Given the description of an element on the screen output the (x, y) to click on. 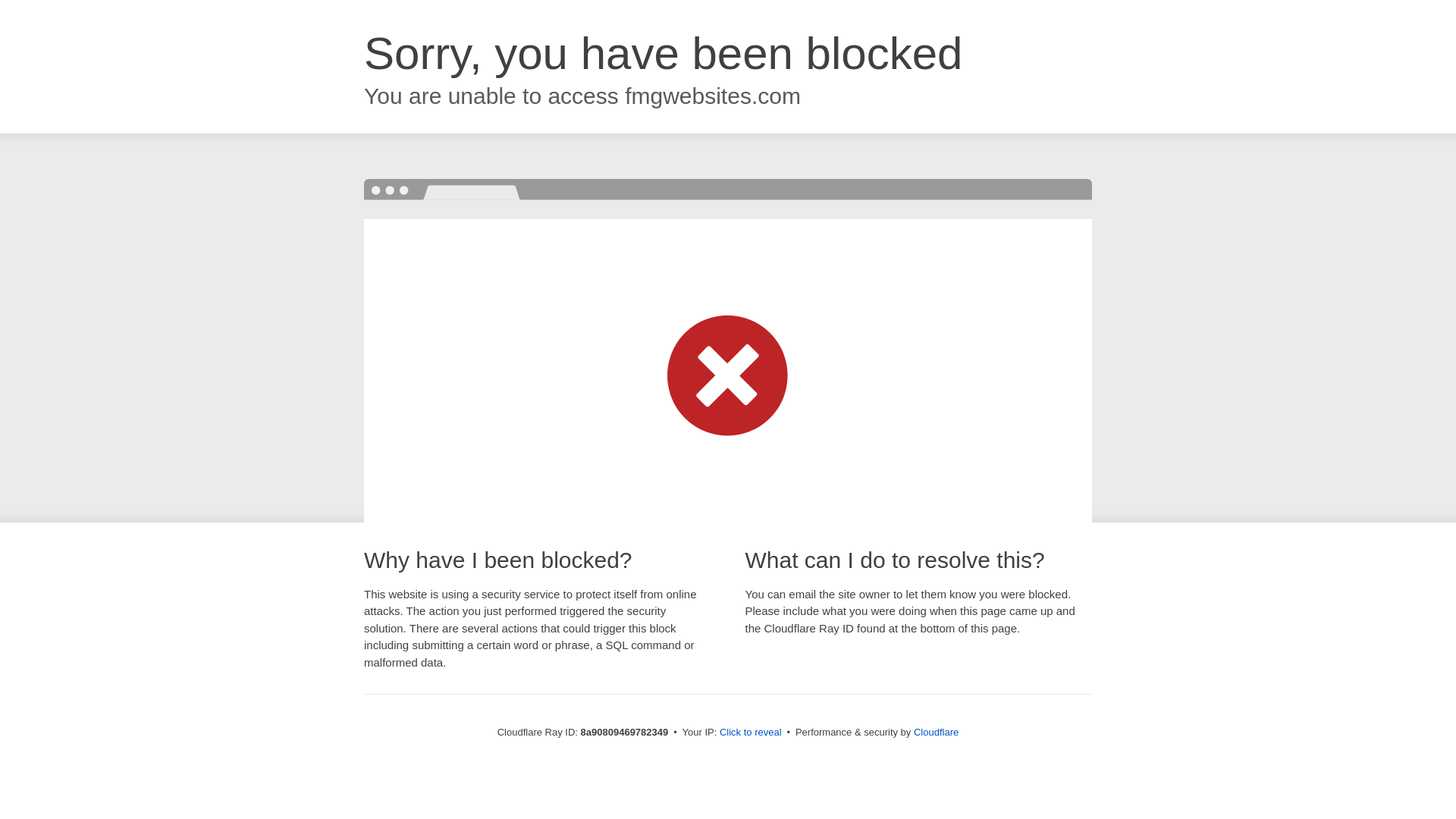
Cloudflare (936, 731)
Click to reveal (750, 732)
